Given the description of an element on the screen output the (x, y) to click on. 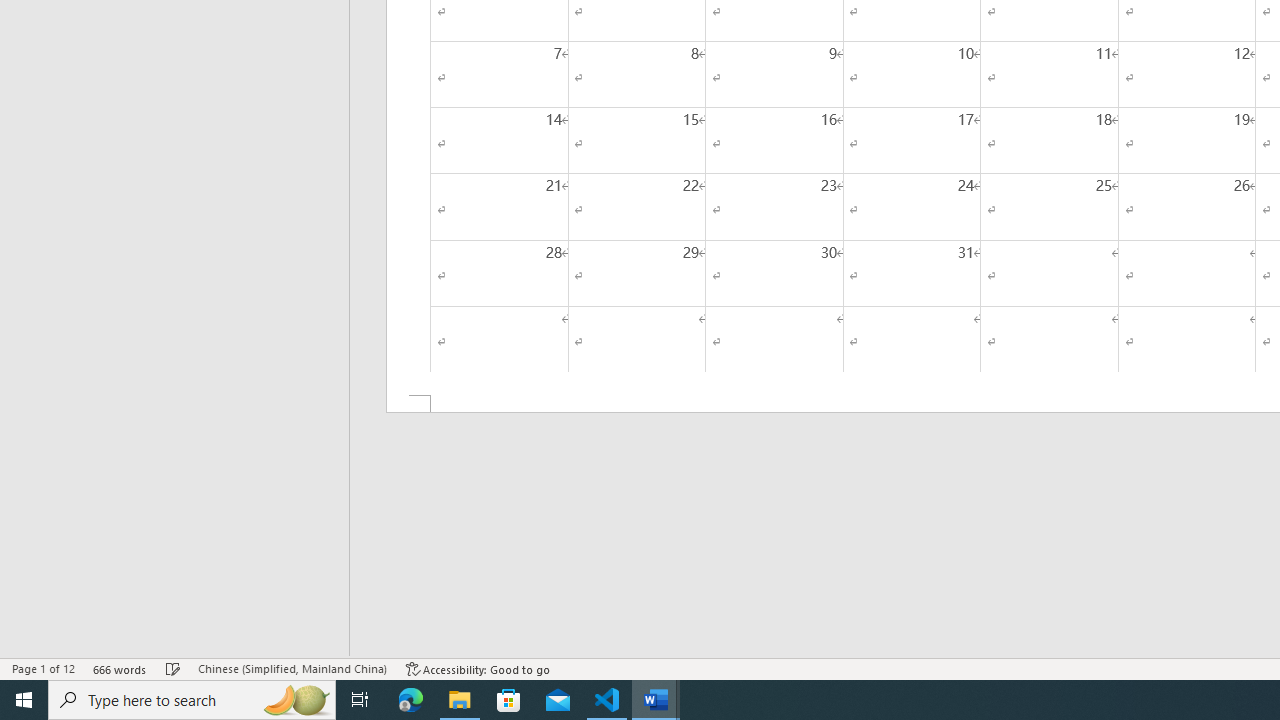
Page Number Page 1 of 12 (43, 668)
Language Chinese (Simplified, Mainland China) (292, 668)
Word Count 666 words (119, 668)
Spelling and Grammar Check Checking (173, 668)
Accessibility Checker Accessibility: Good to go (478, 668)
